Given the description of an element on the screen output the (x, y) to click on. 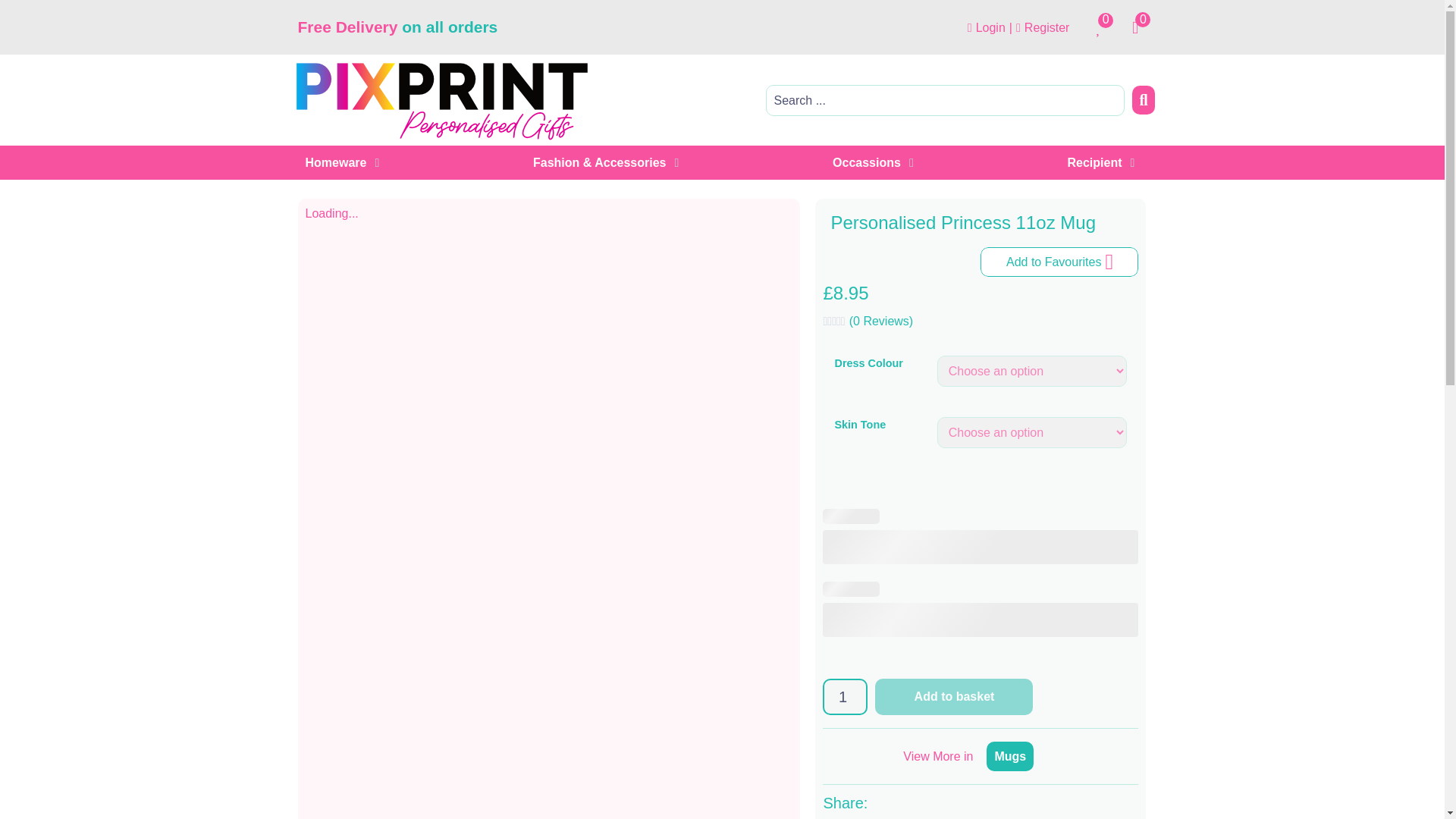
View your shopping cart (1141, 27)
Register (1042, 26)
1 (844, 696)
0 (1141, 27)
Homeware (335, 162)
0 (1102, 27)
Login (987, 26)
